Given the description of an element on the screen output the (x, y) to click on. 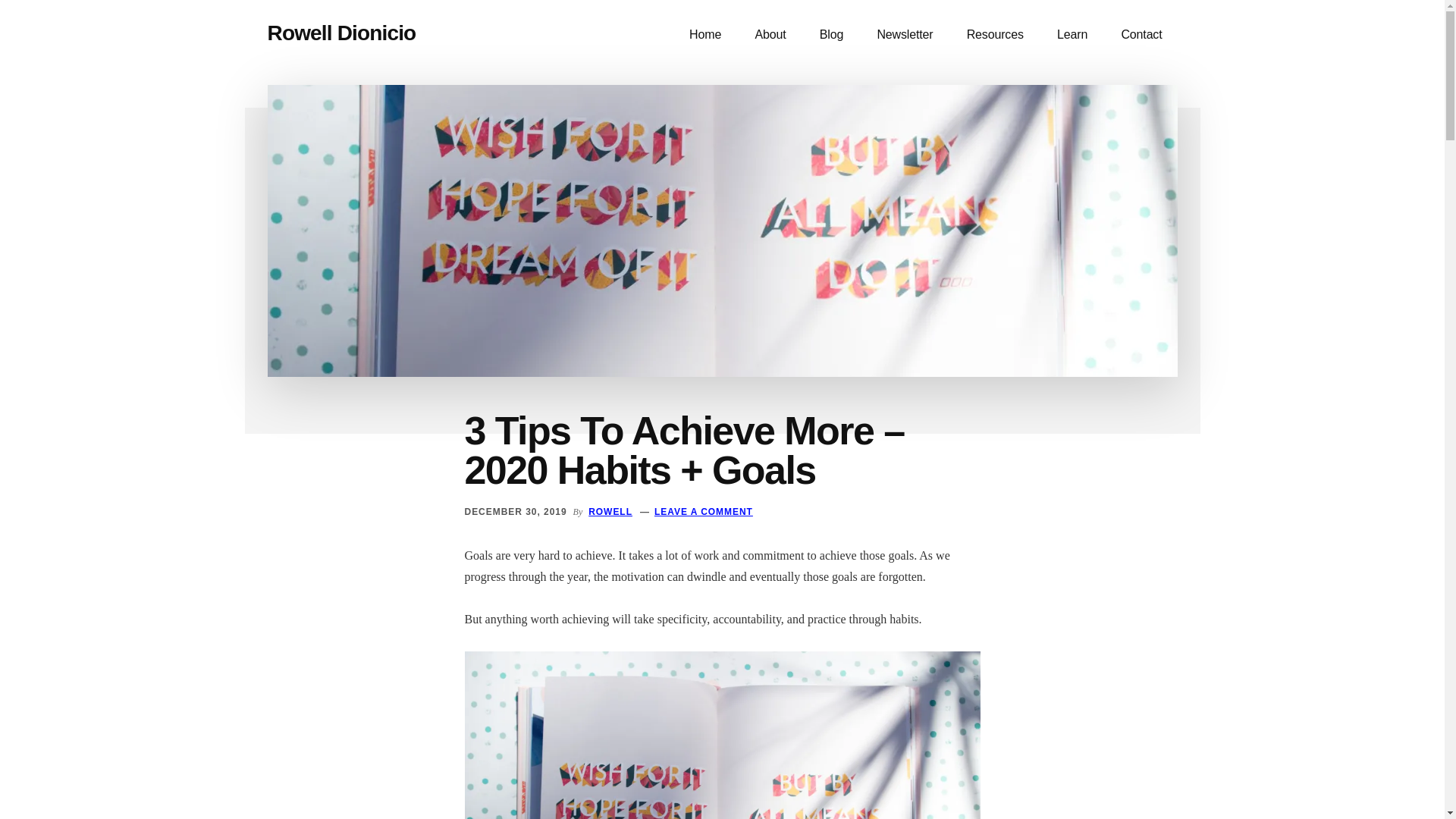
Home (705, 34)
Rowell Dionicio (340, 33)
Learn (1072, 34)
LEAVE A COMMENT (702, 511)
Contact (1140, 34)
About (769, 34)
Newsletter (904, 34)
Resources (995, 34)
ROWELL (609, 511)
